Given the description of an element on the screen output the (x, y) to click on. 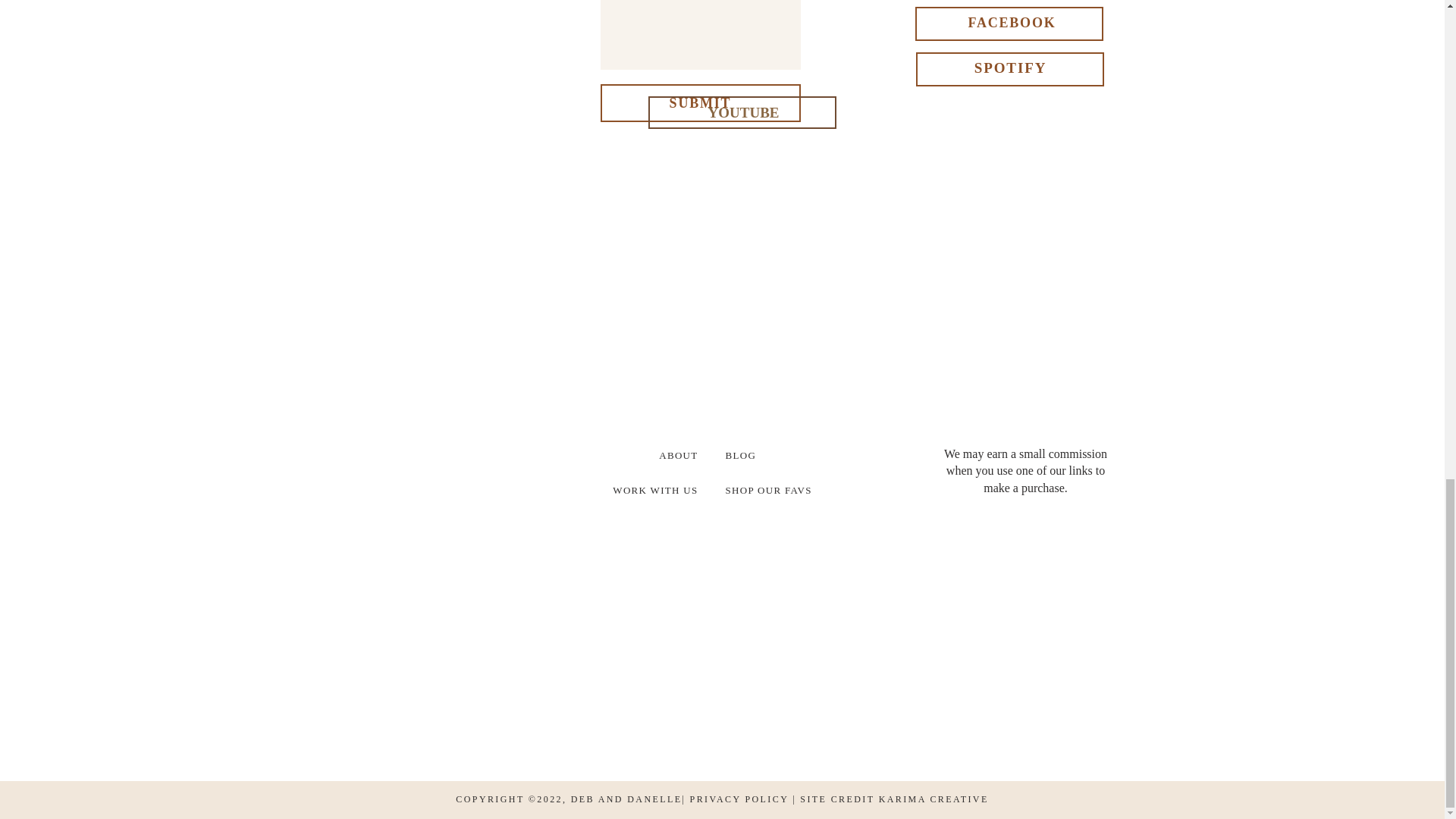
November 17, 2020 at 6:30 pm (727, 418)
November 17, 2020 at 8:40 pm (734, 735)
November 17, 2020 at 3:27 pm (727, 197)
November 17, 2020 at 8:40 pm (734, 530)
Reply (727, 693)
Reply (727, 30)
Reply (727, 489)
November 17, 2020 at 4:19 pm (734, 309)
Post Comment (722, 133)
November 17, 2020 at 8:23 pm (727, 639)
November 15, 2020 at 8:44 pm (734, 72)
yes (721, 68)
The Woods and Ivy Cottag (459, 189)
Reply (727, 268)
Post Comment (722, 133)
